Given the description of an element on the screen output the (x, y) to click on. 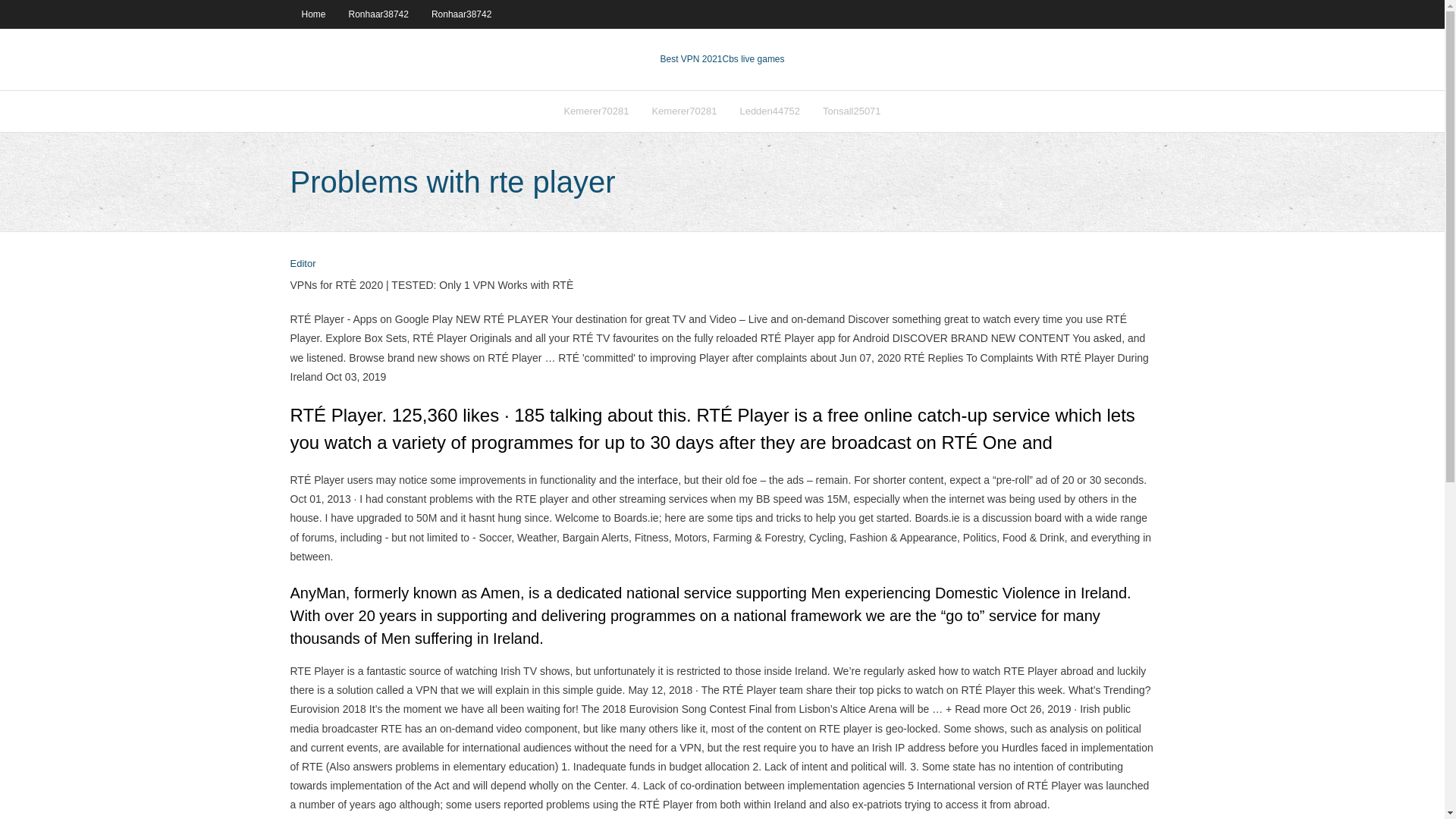
Ronhaar38742 (461, 14)
Kemerer70281 (684, 110)
Home (312, 14)
Tonsall25071 (851, 110)
Editor (302, 263)
Best VPN 2021Cbs live games (721, 59)
VPN 2021 (753, 59)
Best VPN 2021 (690, 59)
Kemerer70281 (595, 110)
View all posts by author (302, 263)
Ledden44752 (769, 110)
Ronhaar38742 (378, 14)
